Given the description of an element on the screen output the (x, y) to click on. 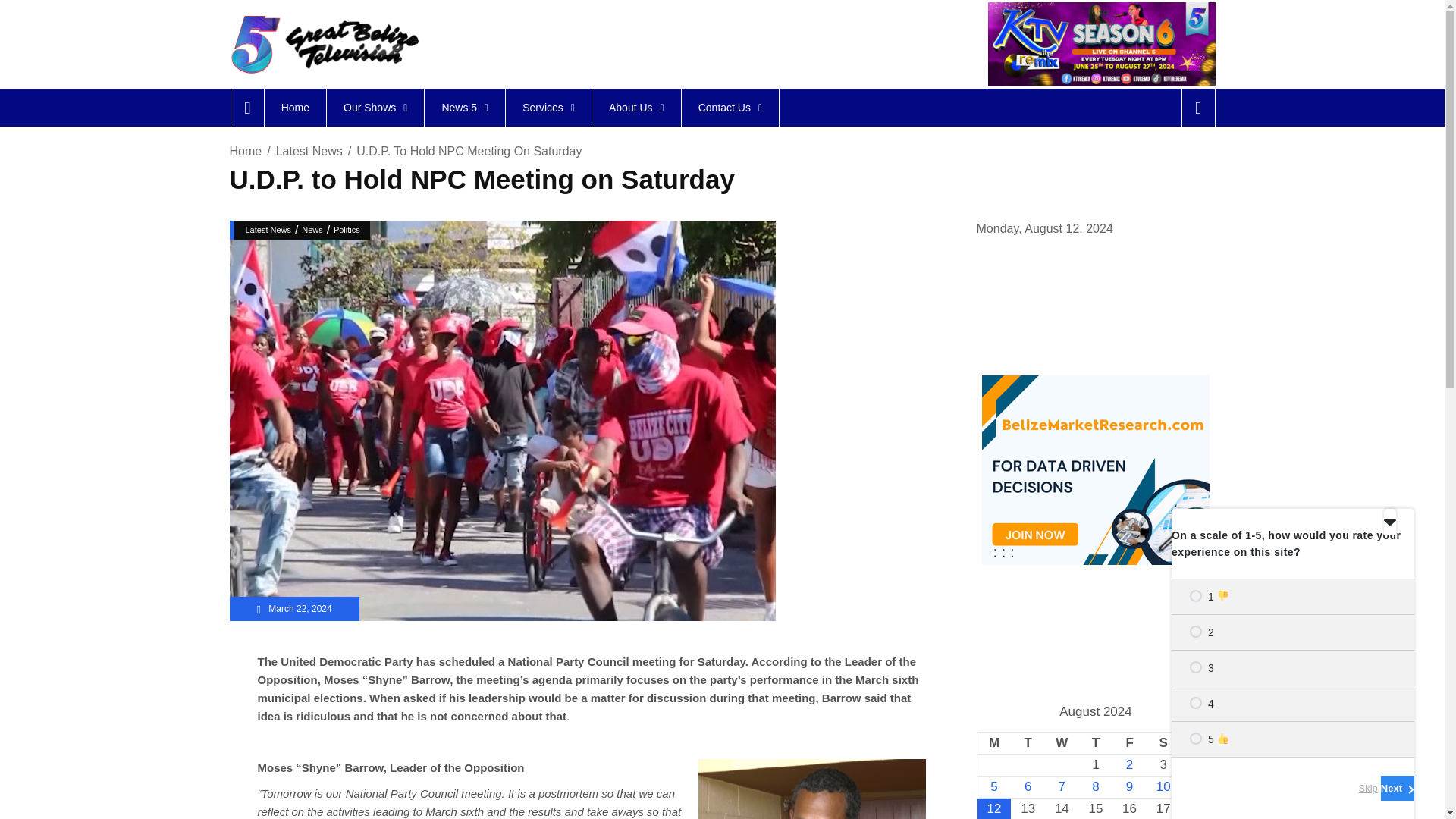
Our Shows (374, 107)
Saturday (1163, 742)
Wednesday (1061, 742)
Monday (993, 742)
Tuesday (1027, 742)
Sunday (1196, 742)
Friday (1129, 742)
Home (294, 107)
Thursday (1095, 742)
